Given the description of an element on the screen output the (x, y) to click on. 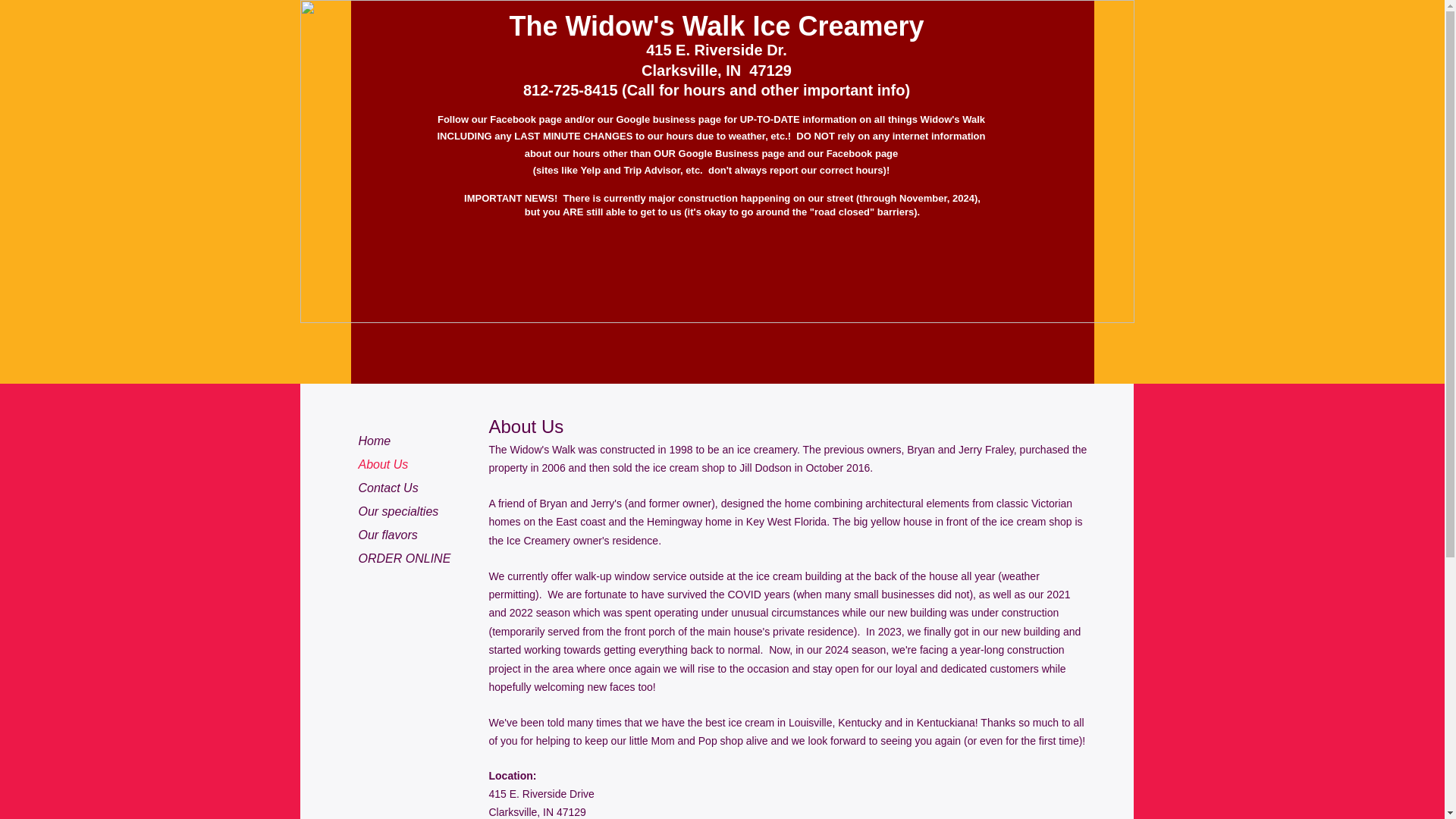
Contact Us (387, 487)
ORDER ONLINE (404, 558)
About Us (382, 464)
Home (373, 441)
Our specialties (397, 511)
Our flavors (387, 535)
